Given the description of an element on the screen output the (x, y) to click on. 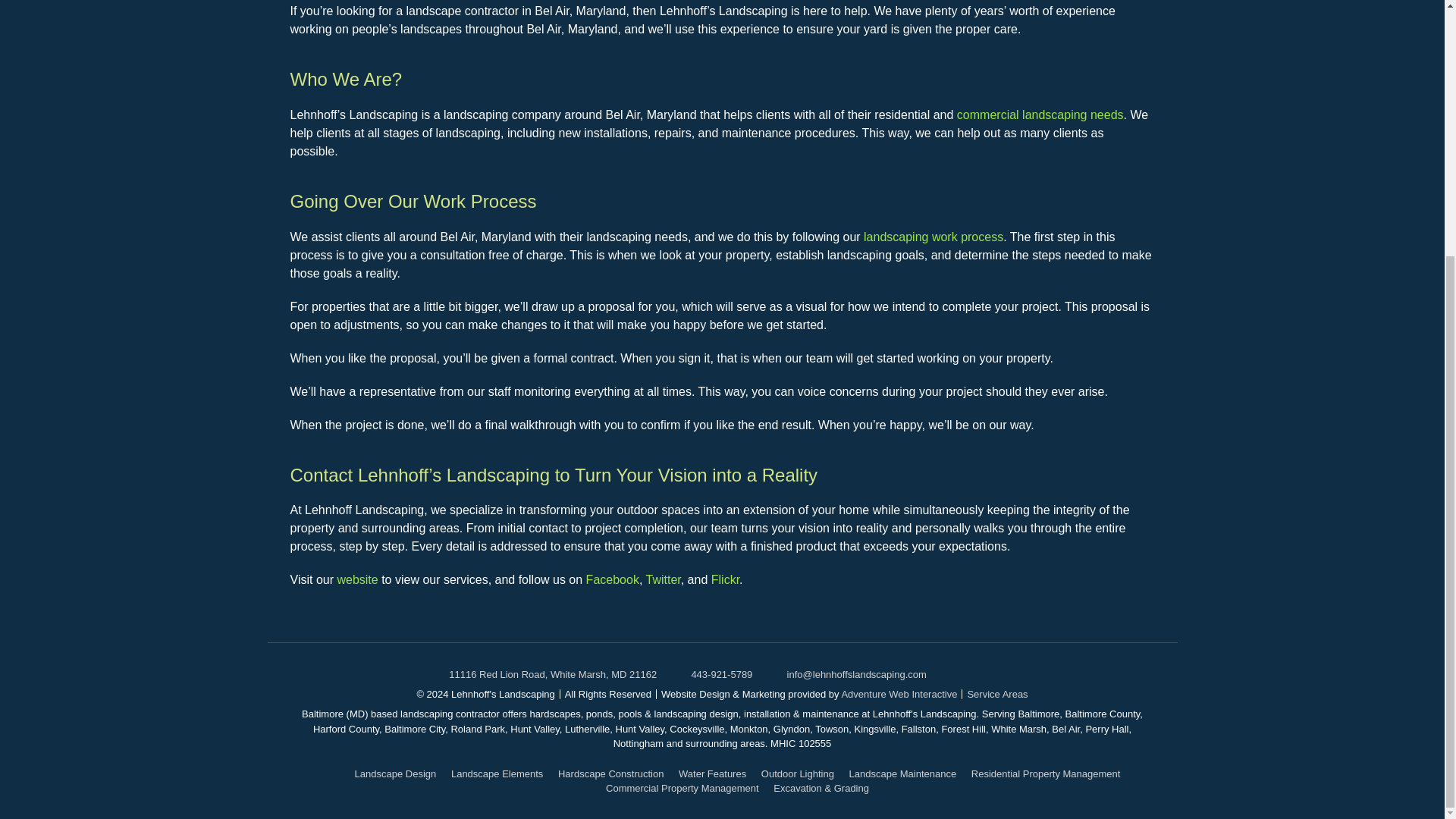
Service Areas (996, 694)
Hardscape Construction (610, 773)
Twitter (662, 579)
landscaping work process (933, 236)
11116 Red Lion Road, White Marsh, MD 21162 (552, 674)
Facebook (612, 579)
443-921-5789 (721, 674)
website (356, 579)
Flickr (725, 579)
commercial landscaping needs (1040, 114)
